Given the description of an element on the screen output the (x, y) to click on. 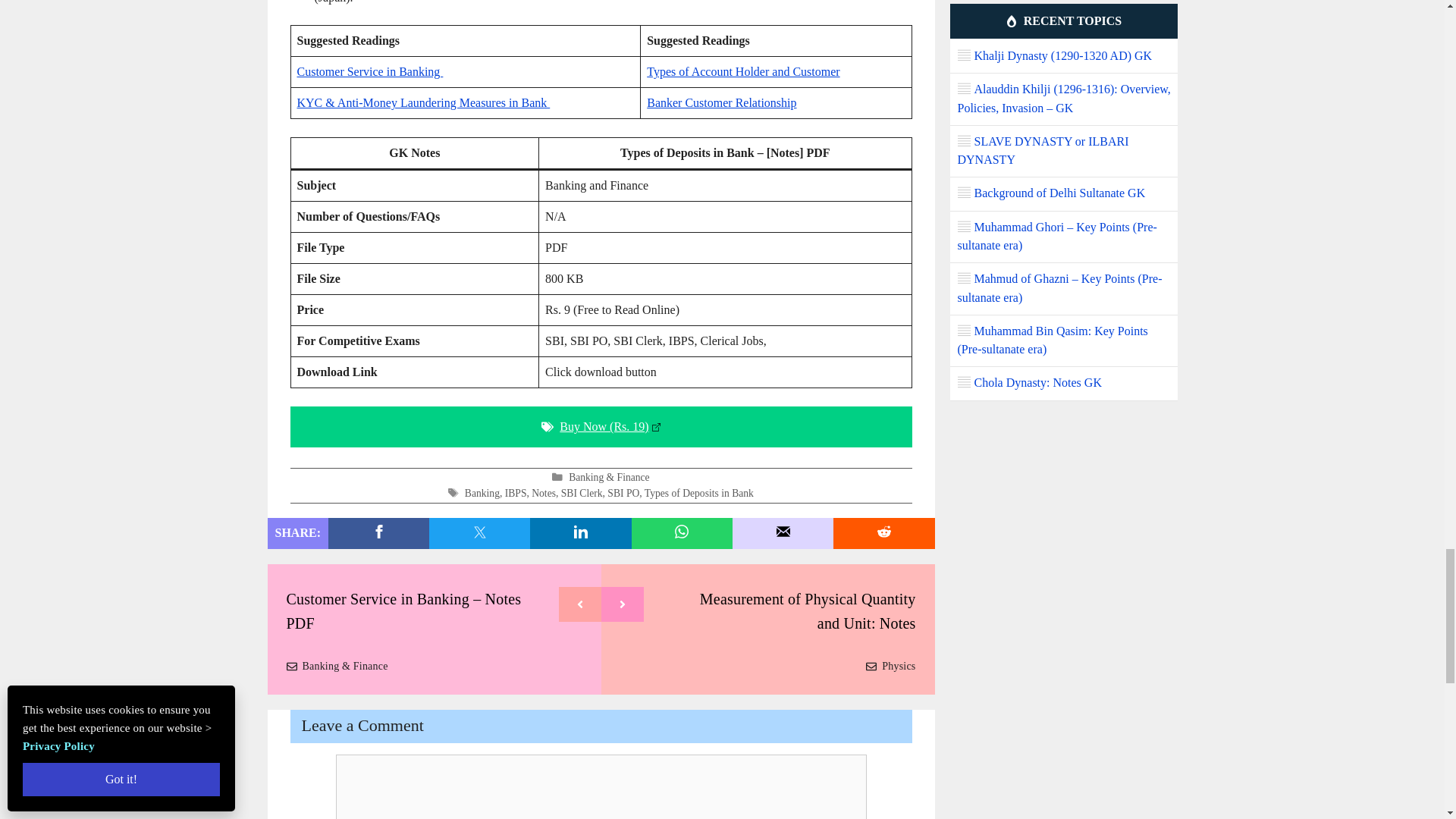
Notes (543, 492)
Banker Customer Relationship (721, 102)
SBI Clerk (581, 492)
IBPS (516, 492)
Banking (481, 492)
Types of Account Holder and Customer (743, 71)
Customer Service in Banking  (370, 71)
